Given the description of an element on the screen output the (x, y) to click on. 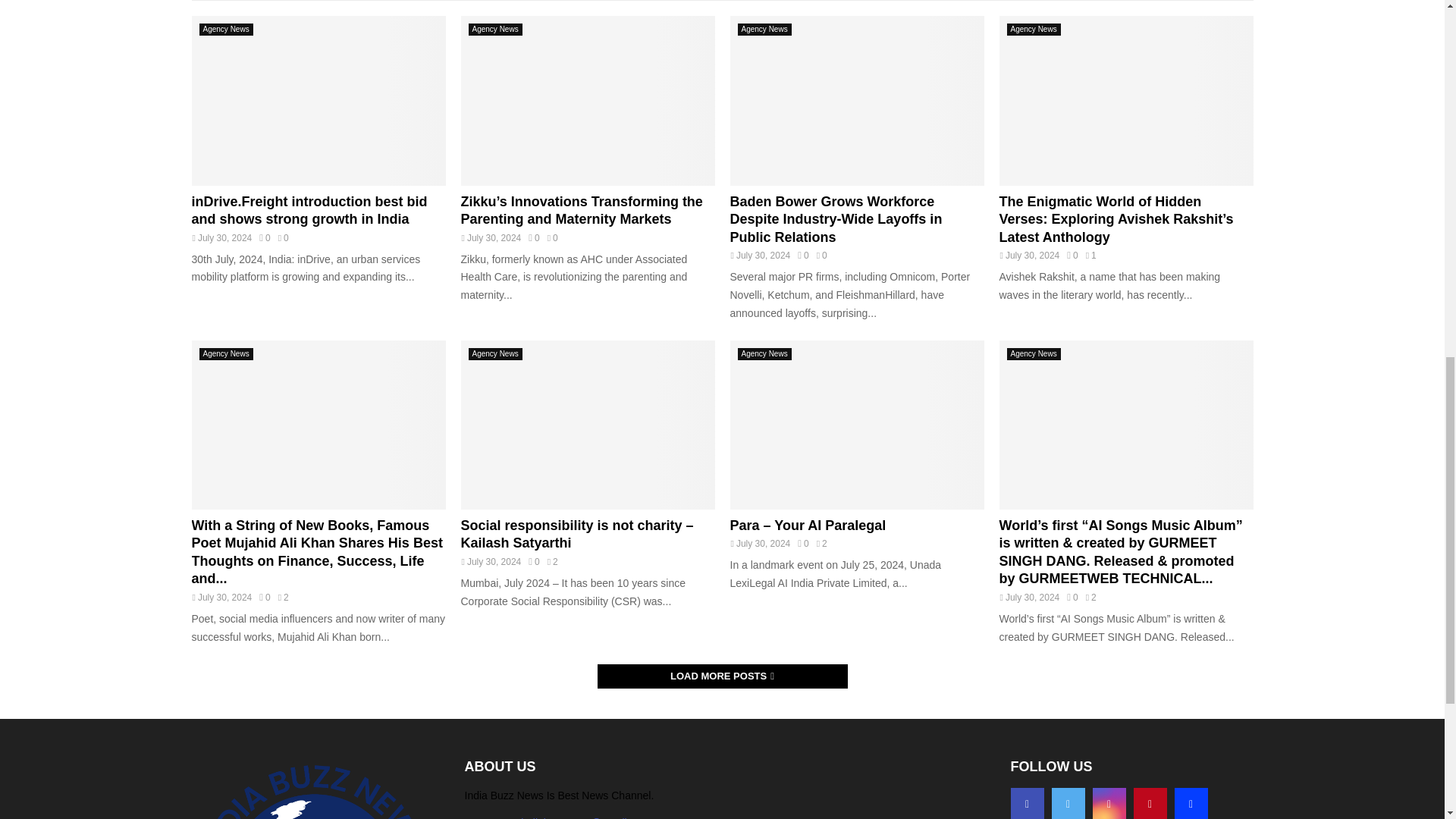
View all posts in Agency News (495, 29)
View all posts in Agency News (763, 29)
Agency News (495, 29)
Agency News (1034, 29)
0 (1072, 255)
Agency News (763, 29)
0 (264, 237)
0 (533, 237)
Agency News (224, 29)
0 (802, 255)
